Given the description of an element on the screen output the (x, y) to click on. 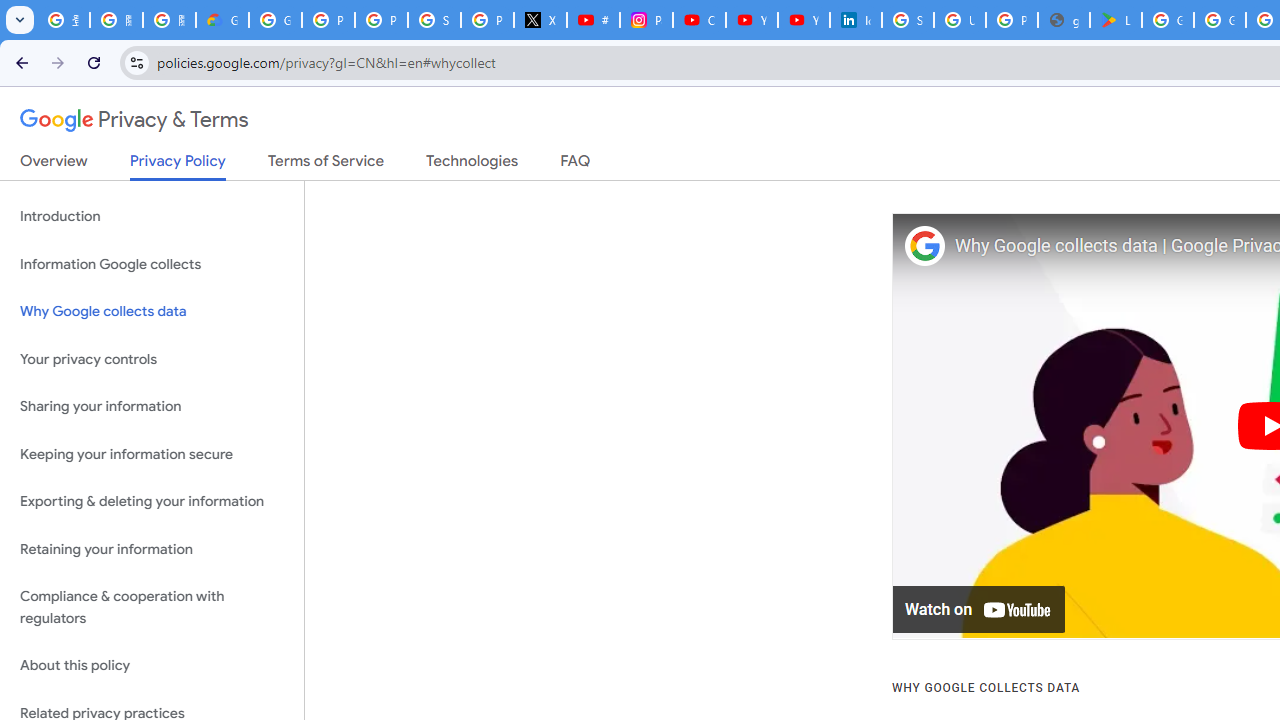
Privacy Help Center - Policies Help (381, 20)
X (540, 20)
Privacy & Terms (134, 120)
Compliance & cooperation with regulators (152, 607)
Sign in - Google Accounts (907, 20)
Google Workspace - Specific Terms (1219, 20)
Last Shelter: Survival - Apps on Google Play (1115, 20)
